Given the description of an element on the screen output the (x, y) to click on. 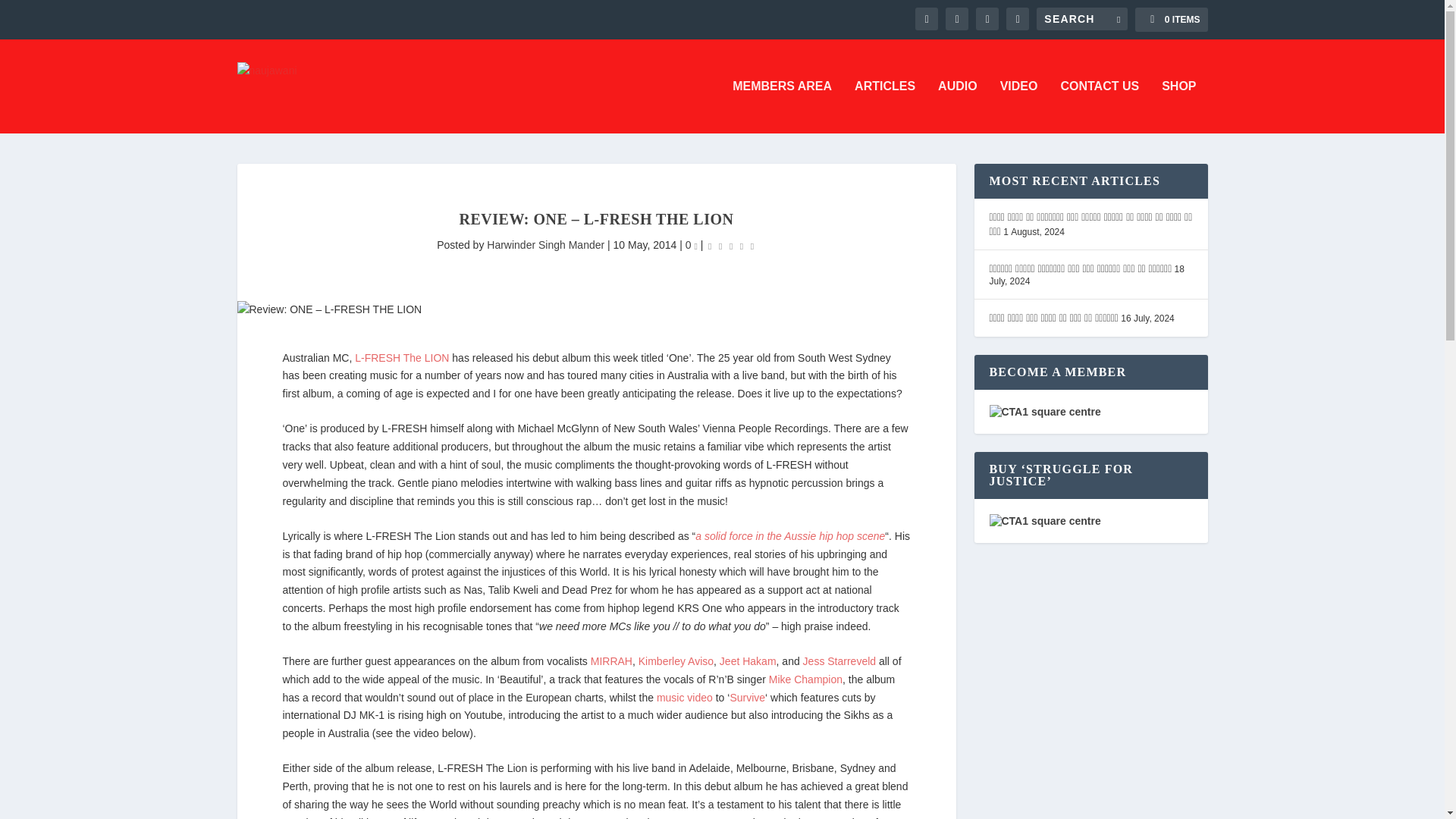
MIRRAH (611, 661)
Mike Champion (805, 679)
Search for: (1081, 18)
0 Items in Cart (1171, 19)
Posts by Harwinder Singh Mander (545, 244)
Jess Starreveld (839, 661)
Survive (747, 697)
L-FRESH The LION (401, 357)
Harwinder Singh Mander (545, 244)
Rating: 0.00 (730, 245)
